Given the description of an element on the screen output the (x, y) to click on. 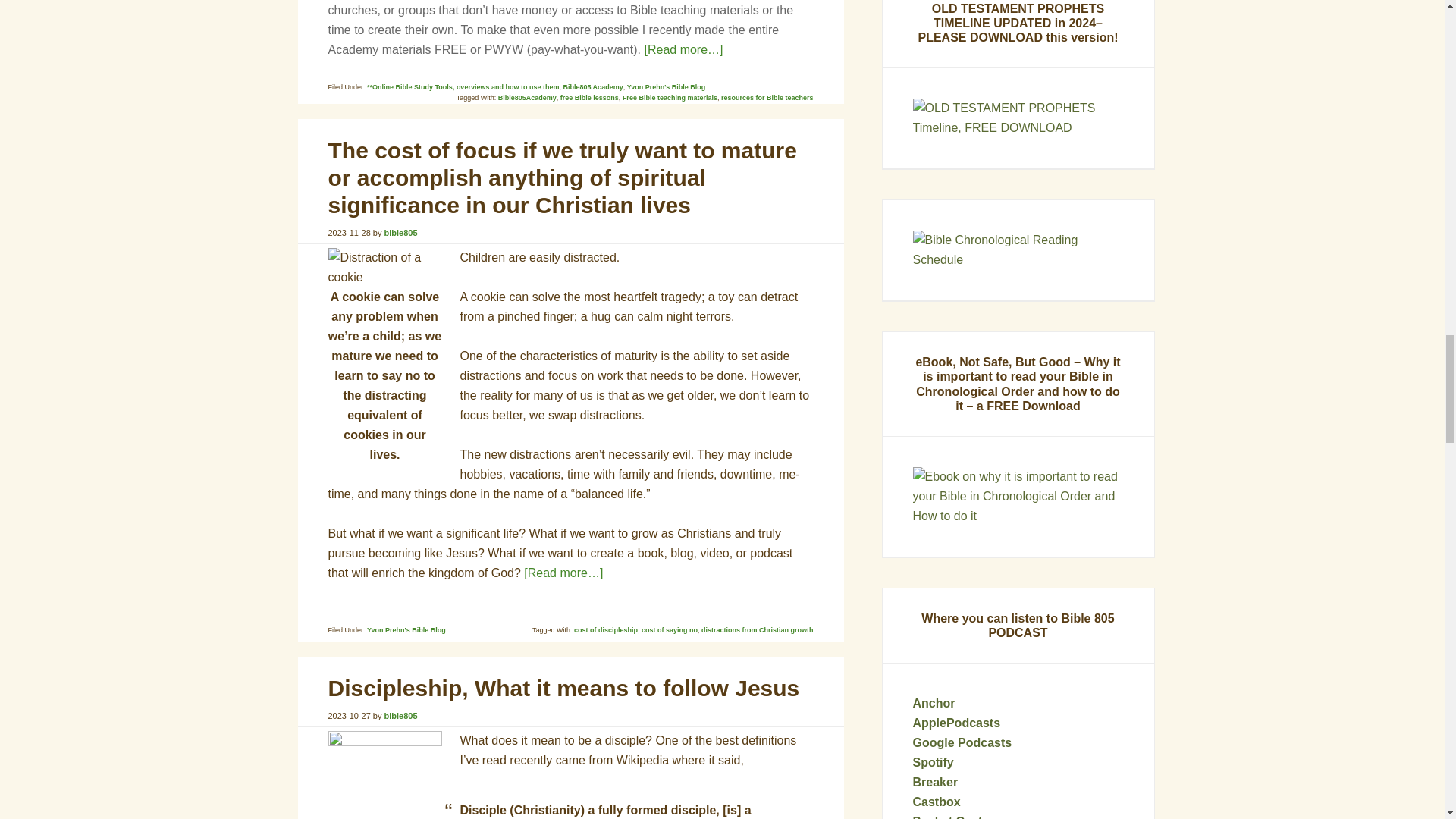
UPDATED in 2024--PLEASE DOWNLOAD this version! (1018, 118)
